Given the description of an element on the screen output the (x, y) to click on. 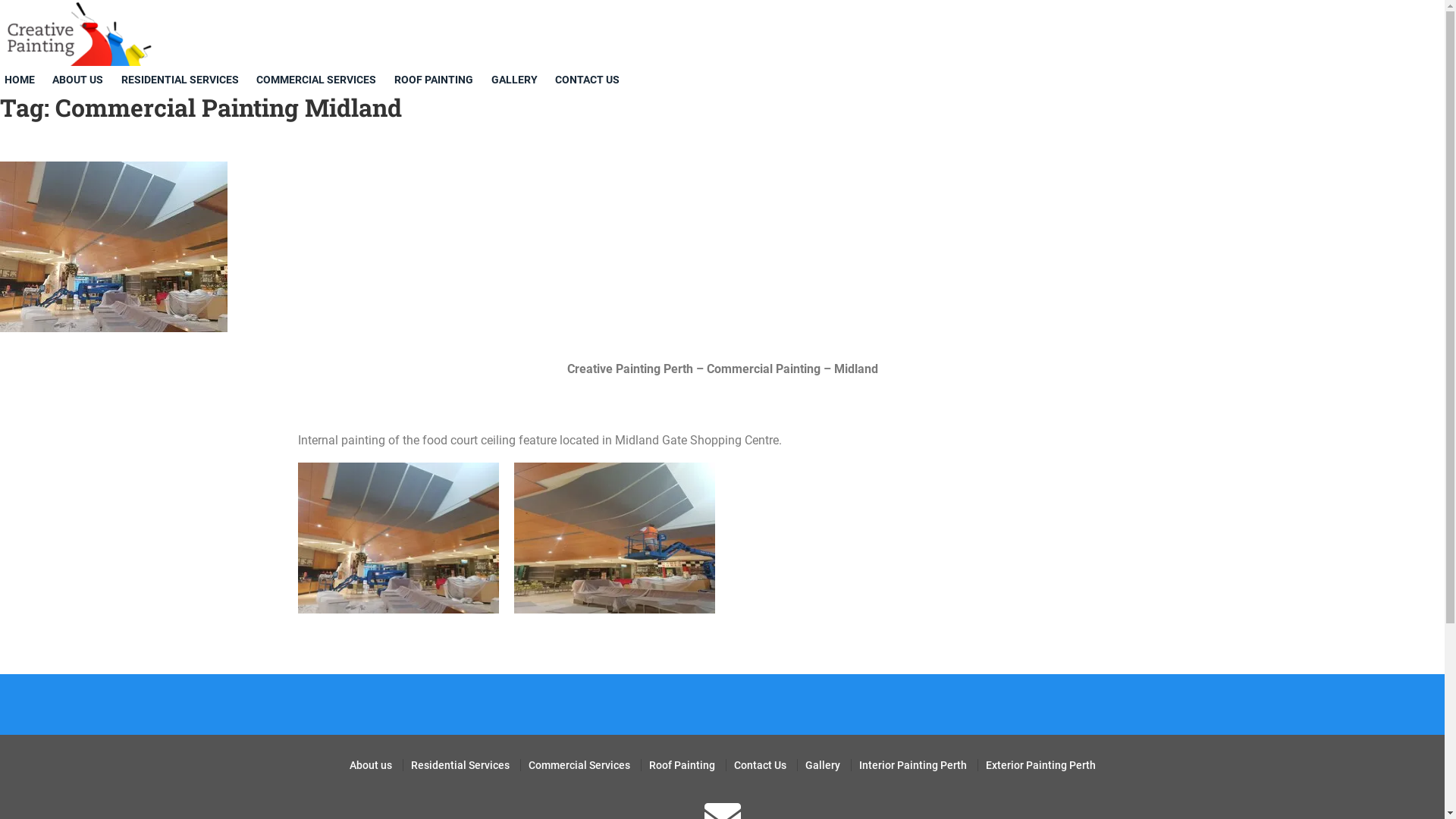
Commercial Services Element type: text (578, 764)
COMMERCIAL SERVICES Element type: text (319, 79)
About us Element type: text (369, 764)
GALLERY Element type: text (517, 79)
Gallery Element type: text (822, 764)
ROOF PAINTING Element type: text (436, 79)
Contact Us Element type: text (760, 764)
Exterior Painting Perth Element type: text (1040, 764)
RESIDENTIAL SERVICES Element type: text (182, 79)
CONTACT US Element type: text (590, 79)
ABOUT US Element type: text (81, 79)
HOME Element type: text (22, 79)
Roof Painting Element type: text (682, 764)
Residential Services Element type: text (460, 764)
Interior Painting Perth Element type: text (912, 764)
